Given the description of an element on the screen output the (x, y) to click on. 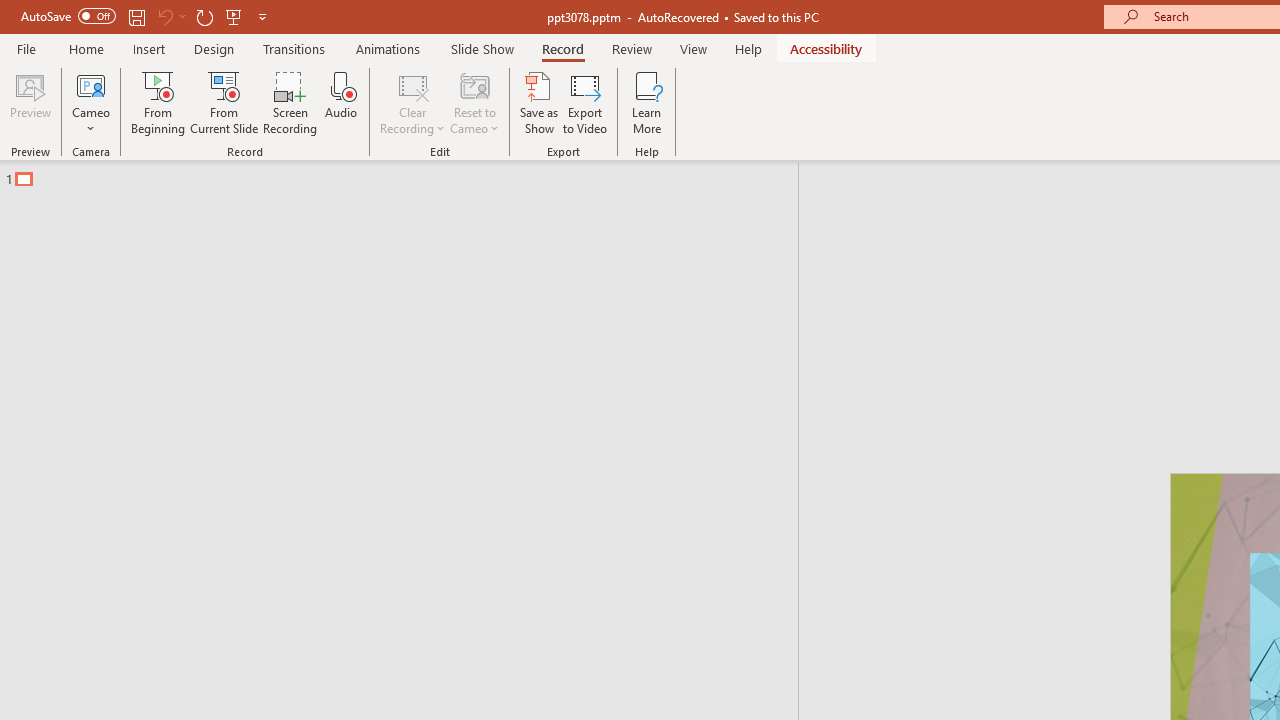
Screen Recording (290, 102)
